Given the description of an element on the screen output the (x, y) to click on. 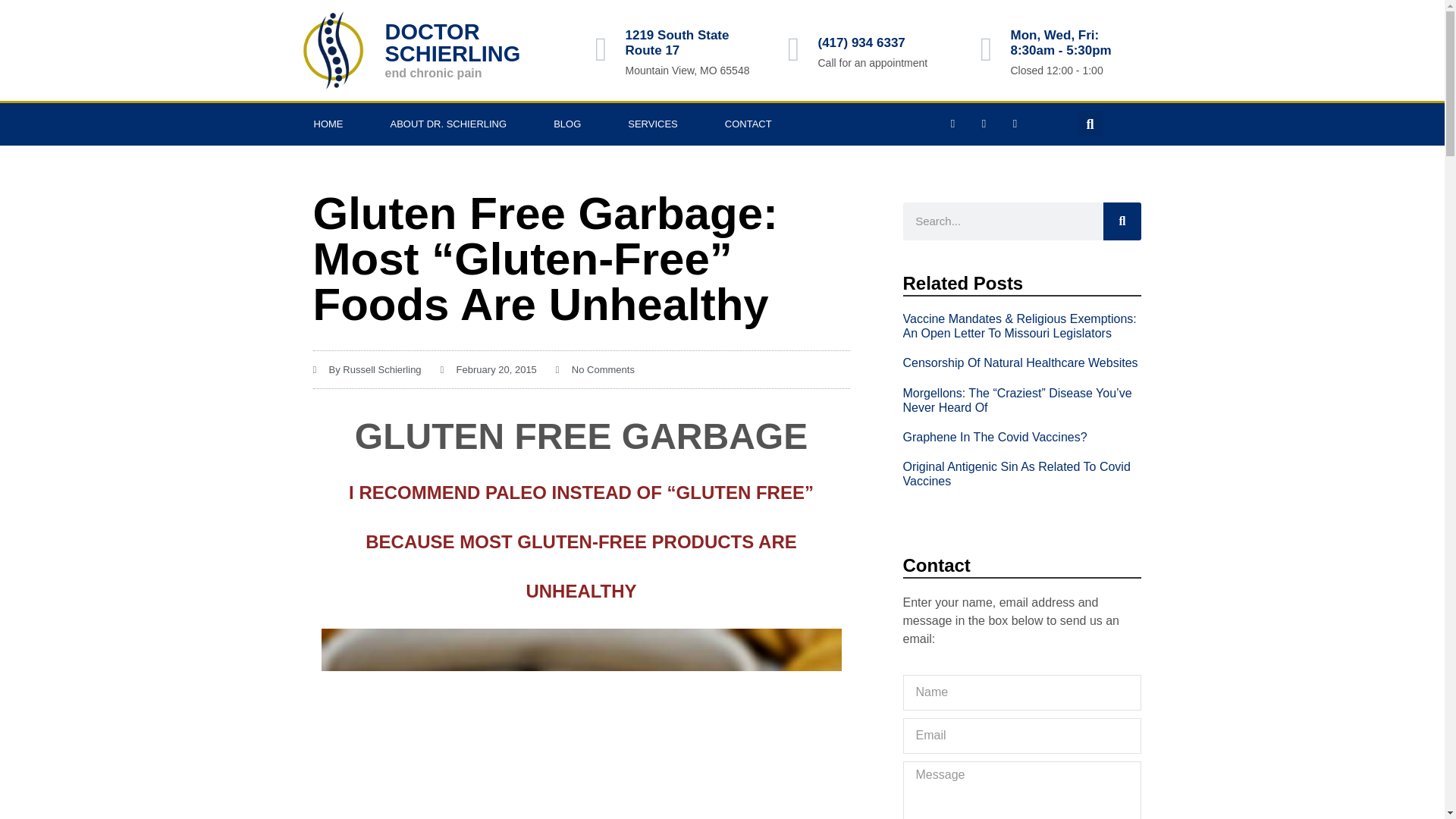
BLOG (566, 124)
DOCTOR SCHIERLING (451, 42)
ABOUT DR. SCHIERLING (448, 124)
SERVICES (652, 124)
CONTACT (747, 124)
HOME (327, 124)
